Given the description of an element on the screen output the (x, y) to click on. 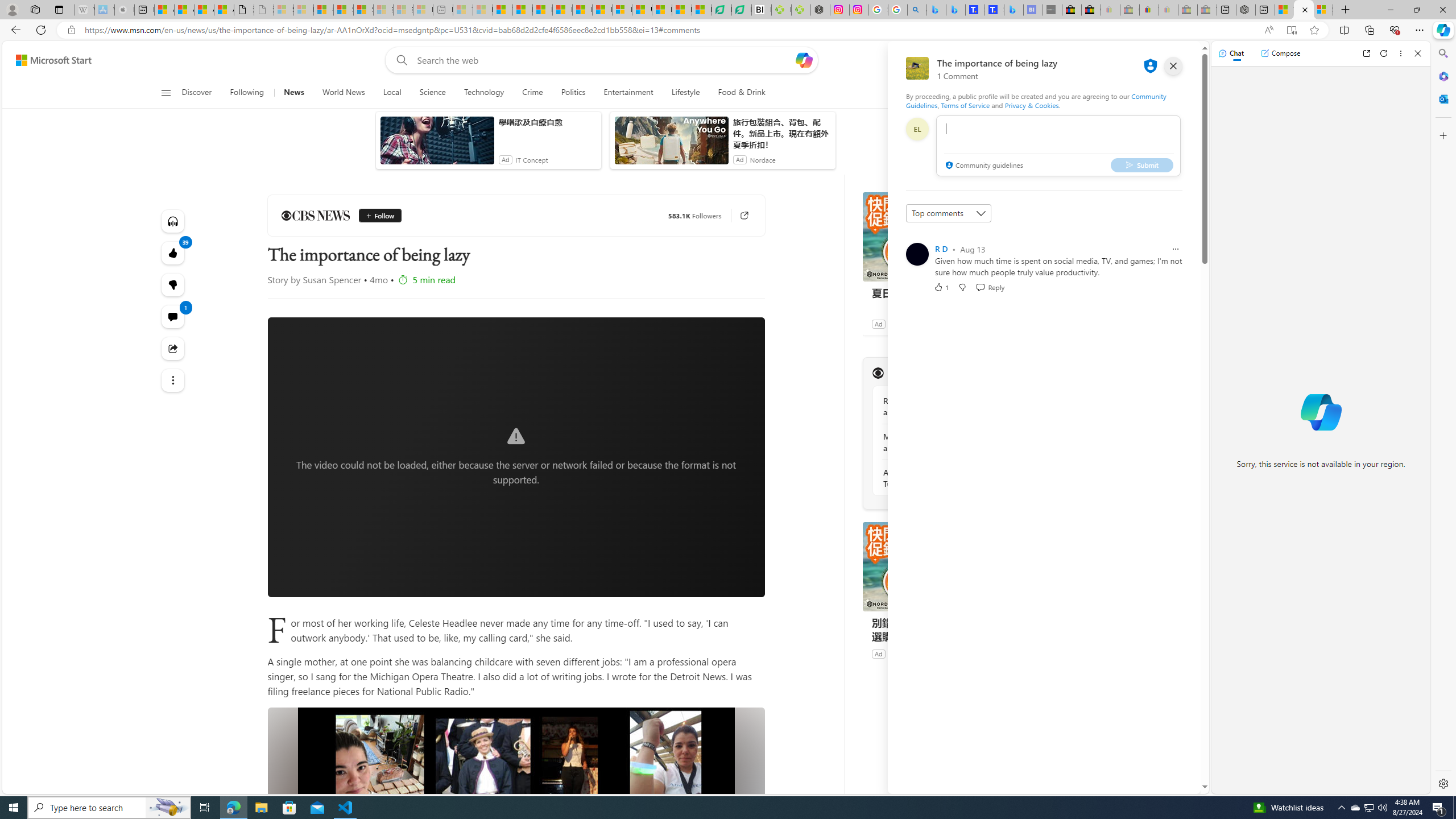
Community guidelines (983, 165)
R D (940, 248)
Drinking tea every day is proven to delay biological aging (561, 9)
Buy iPad - Apple - Sleeping (124, 9)
Marine life - MSN - Sleeping (482, 9)
